Given the description of an element on the screen output the (x, y) to click on. 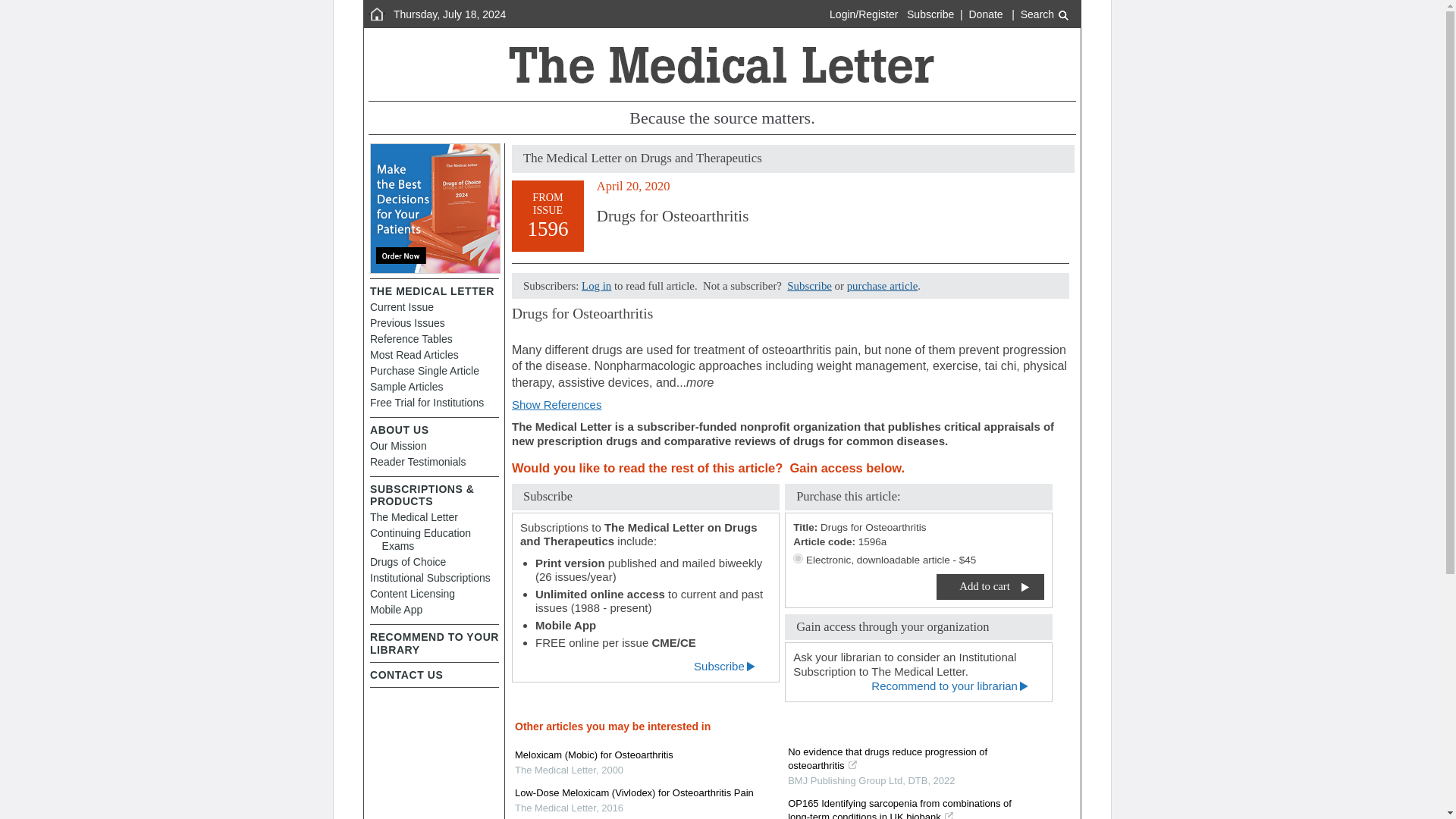
Donate (986, 14)
Log in (595, 285)
purchase article (882, 285)
Subscribe (930, 14)
Search  (1044, 14)
electronic (798, 558)
Subscribe (809, 285)
Show References (556, 404)
